Given the description of an element on the screen output the (x, y) to click on. 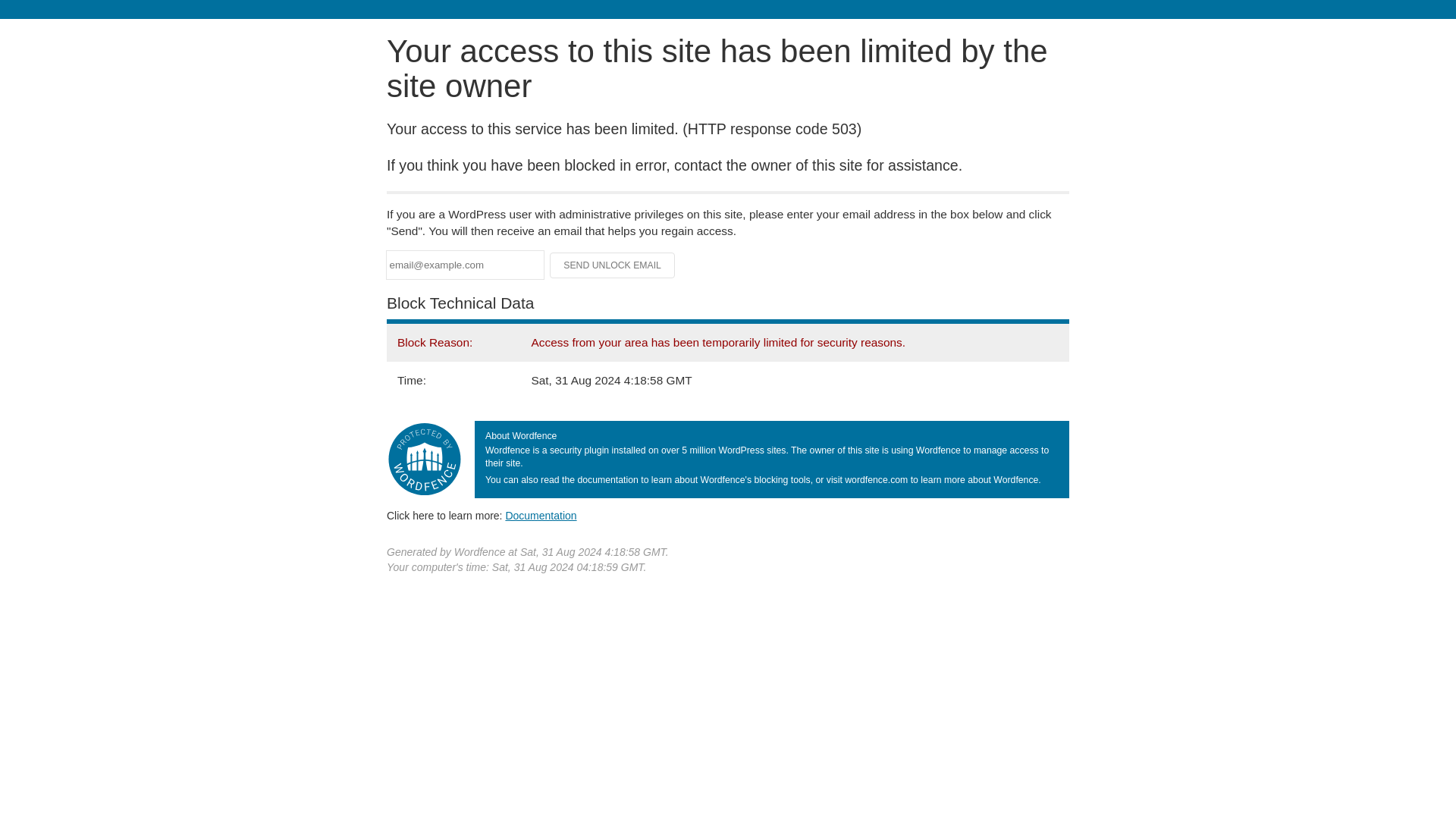
Send Unlock Email (612, 265)
Send Unlock Email (612, 265)
Documentation (540, 515)
